Given the description of an element on the screen output the (x, y) to click on. 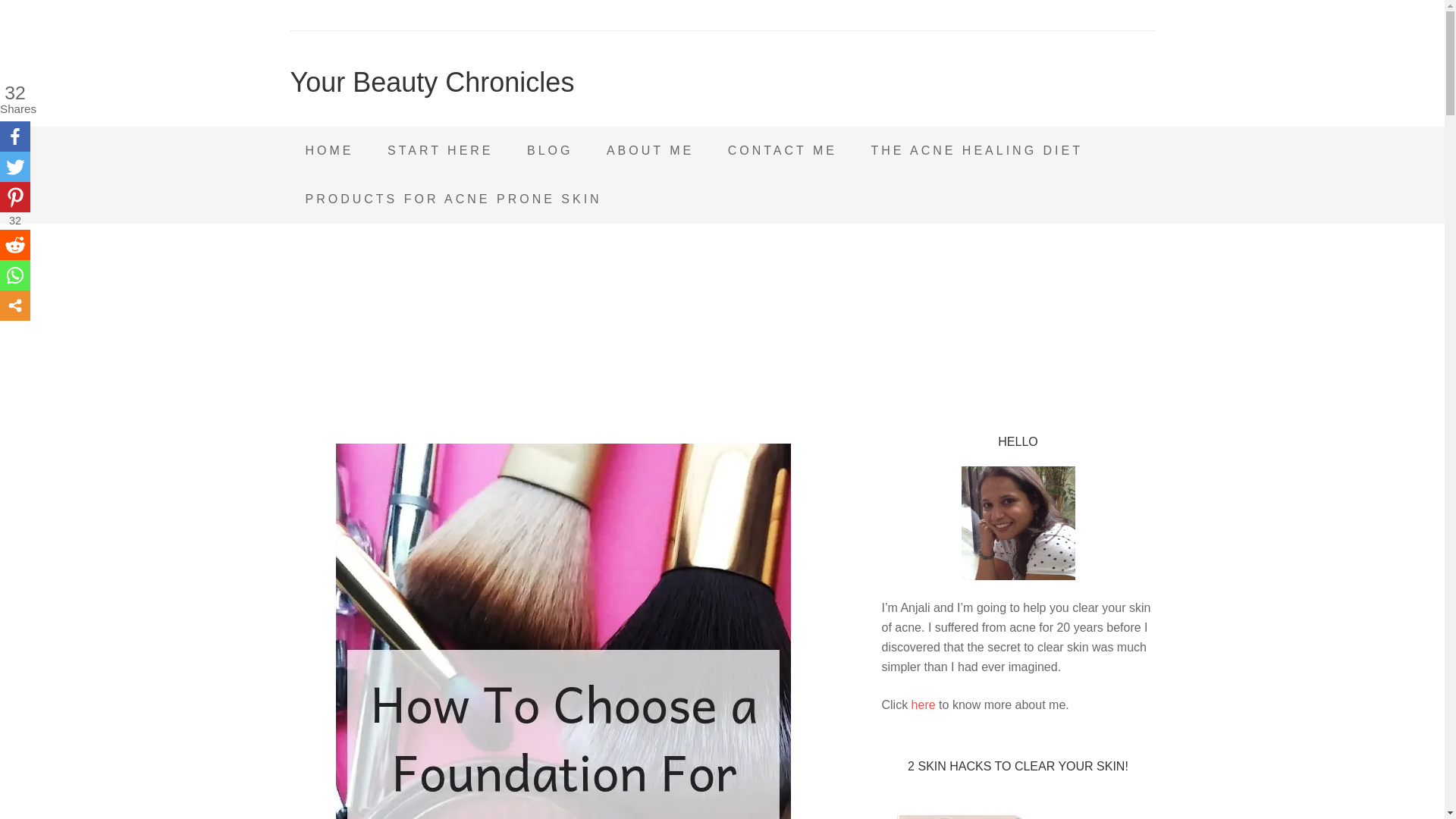
More (15, 305)
THE ACNE HEALING DIET (976, 150)
START HERE (440, 150)
Twitter (15, 166)
HOME (328, 150)
BLOG (550, 150)
Whatsapp (15, 275)
Total Shares (15, 99)
PRODUCTS FOR ACNE PRONE SKIN (452, 199)
ABOUT ME (650, 150)
